Given the description of an element on the screen output the (x, y) to click on. 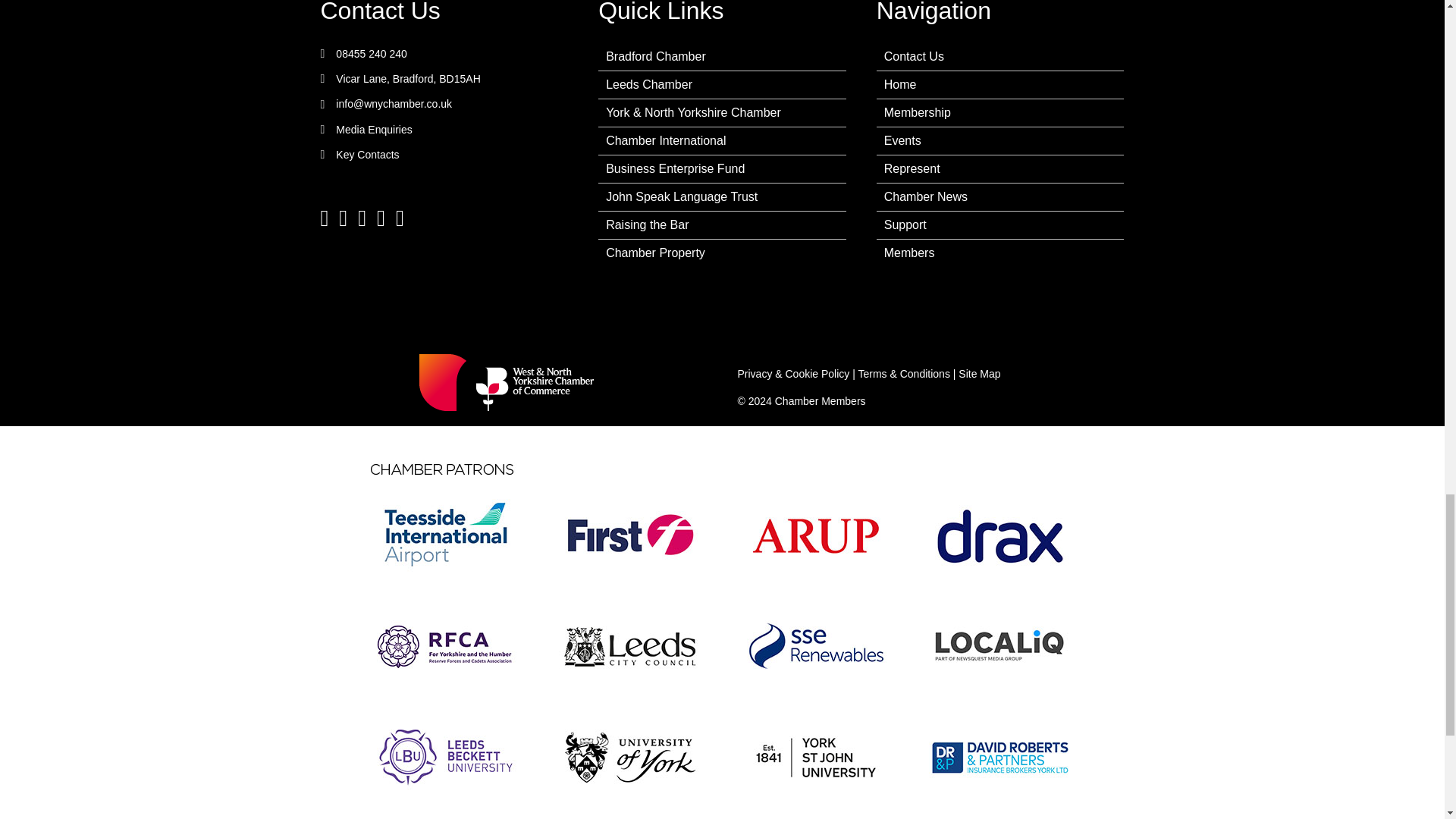
BMW-Logo (513, 382)
08455 240 240 (371, 53)
Media Enquiries (374, 129)
Contact Us (379, 12)
Contact Us (379, 12)
